Given the description of an element on the screen output the (x, y) to click on. 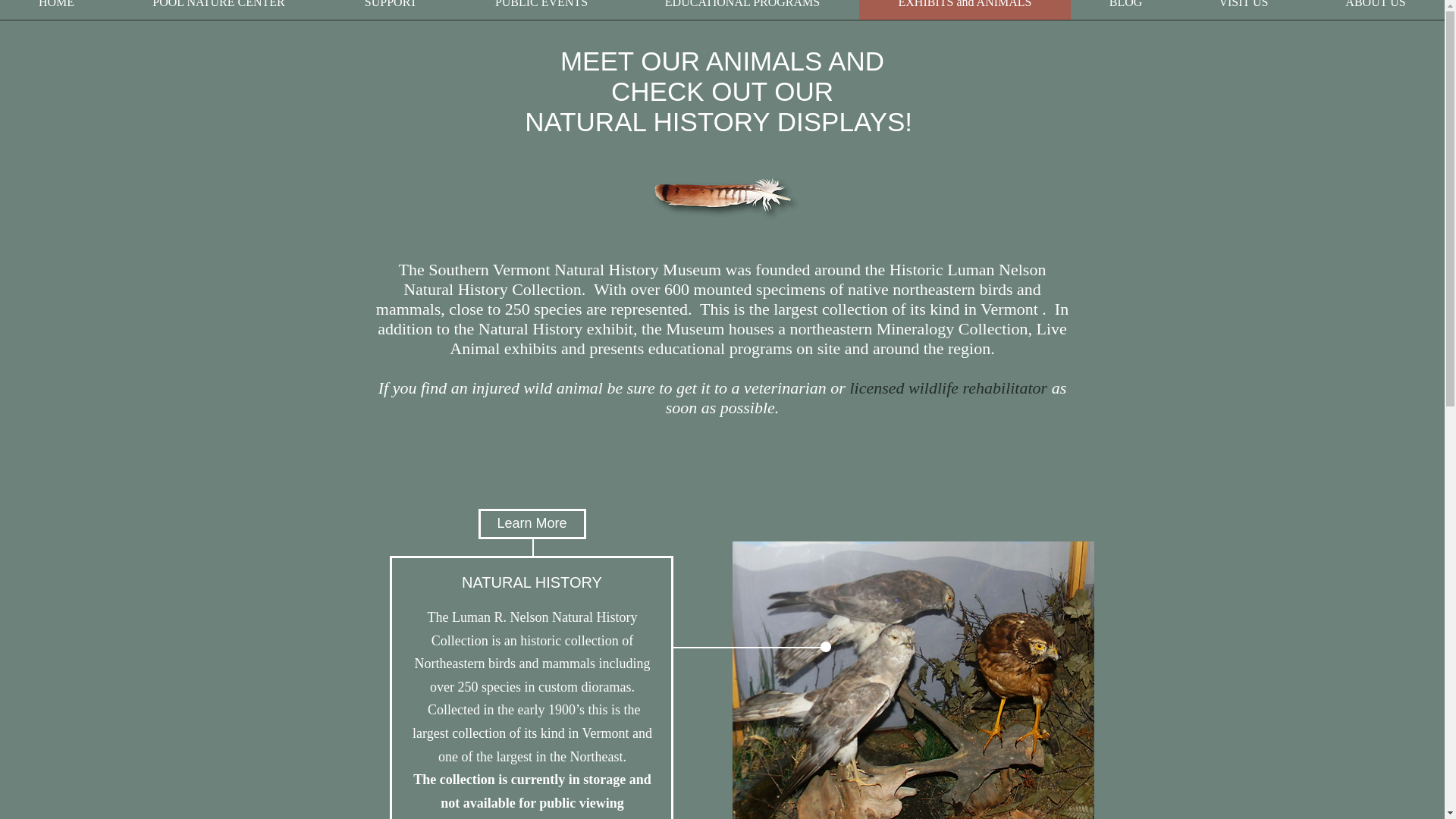
EDUCATIONAL PROGRAMS (742, 9)
BLOG (1125, 9)
licensed wildlife rehabilitator (947, 387)
PUBLIC EVENTS (541, 9)
VISIT US (1243, 9)
SUPPORT (390, 9)
POOL NATURE CENTER (218, 9)
Learn More (531, 523)
HOME (56, 9)
EXHIBITS and ANIMALS (964, 9)
